Given the description of an element on the screen output the (x, y) to click on. 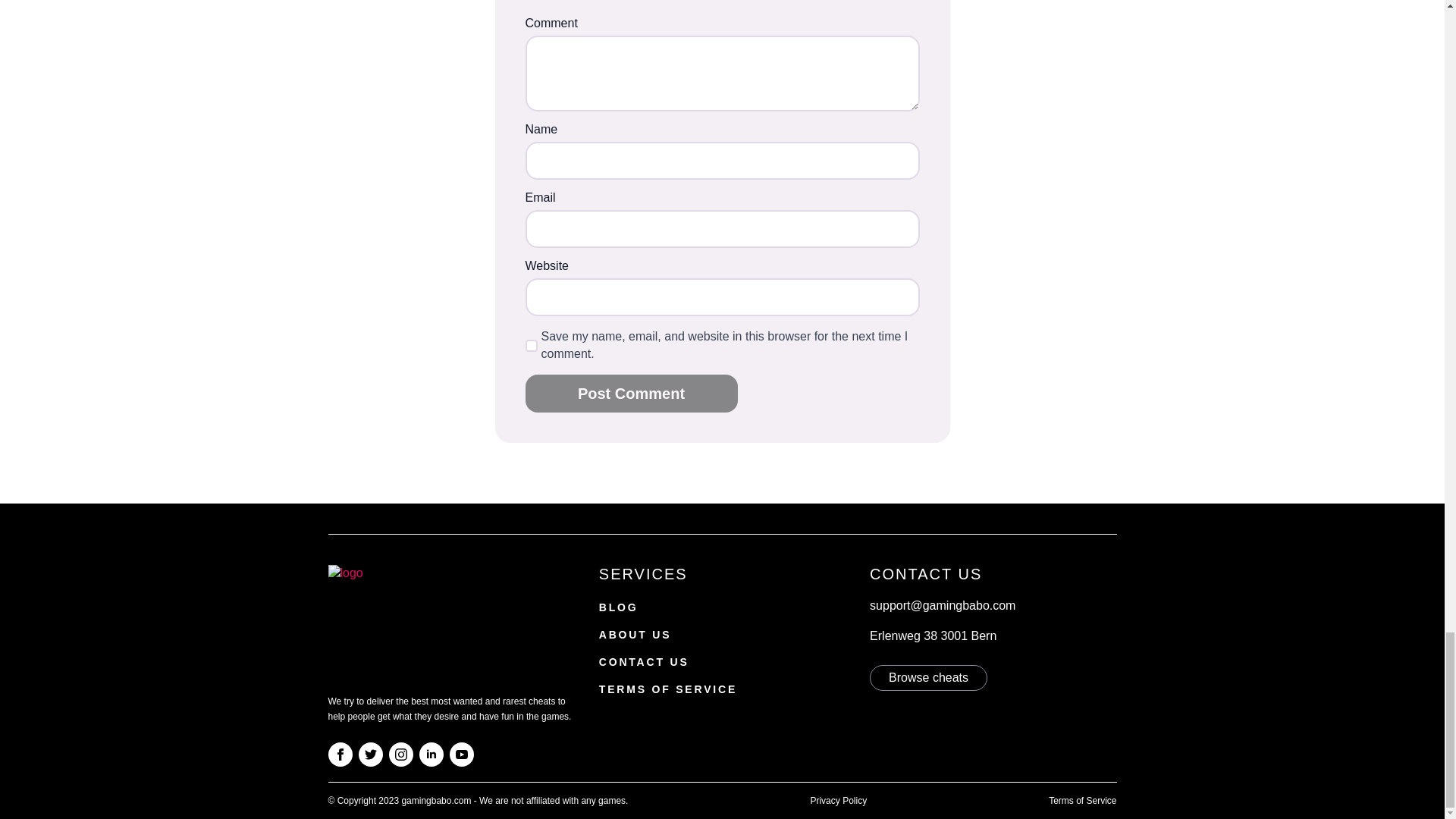
BLOG (618, 608)
CONTACT US (643, 663)
Post Comment (630, 393)
ABOUT US (634, 636)
Privacy Policy (837, 800)
Browse cheats (928, 678)
Terms of Service (1082, 800)
yes (530, 345)
TERMS OF SERVICE (667, 690)
Post Comment (630, 393)
